Given the description of an element on the screen output the (x, y) to click on. 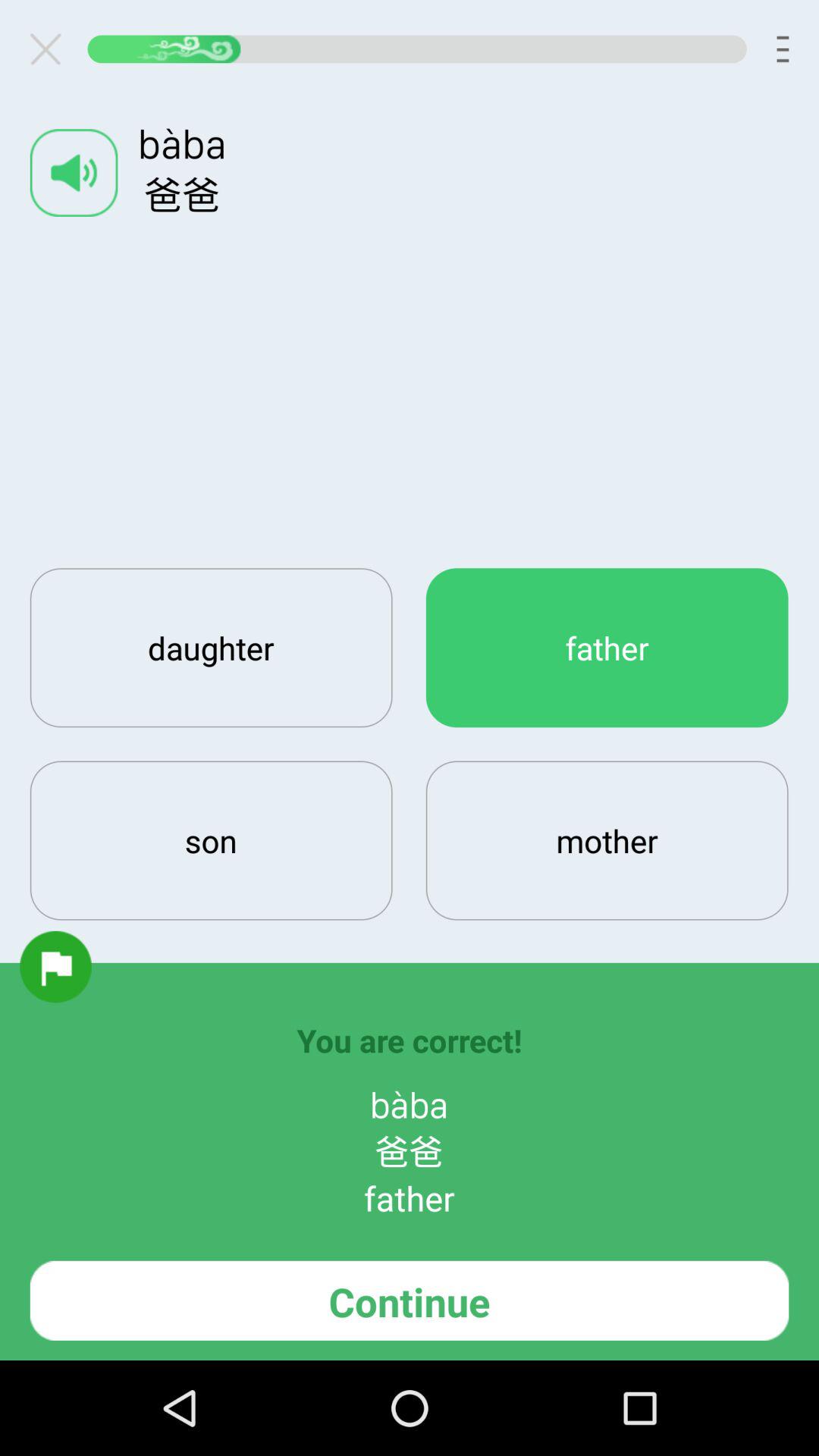
toggle the settings option (51, 49)
